Given the description of an element on the screen output the (x, y) to click on. 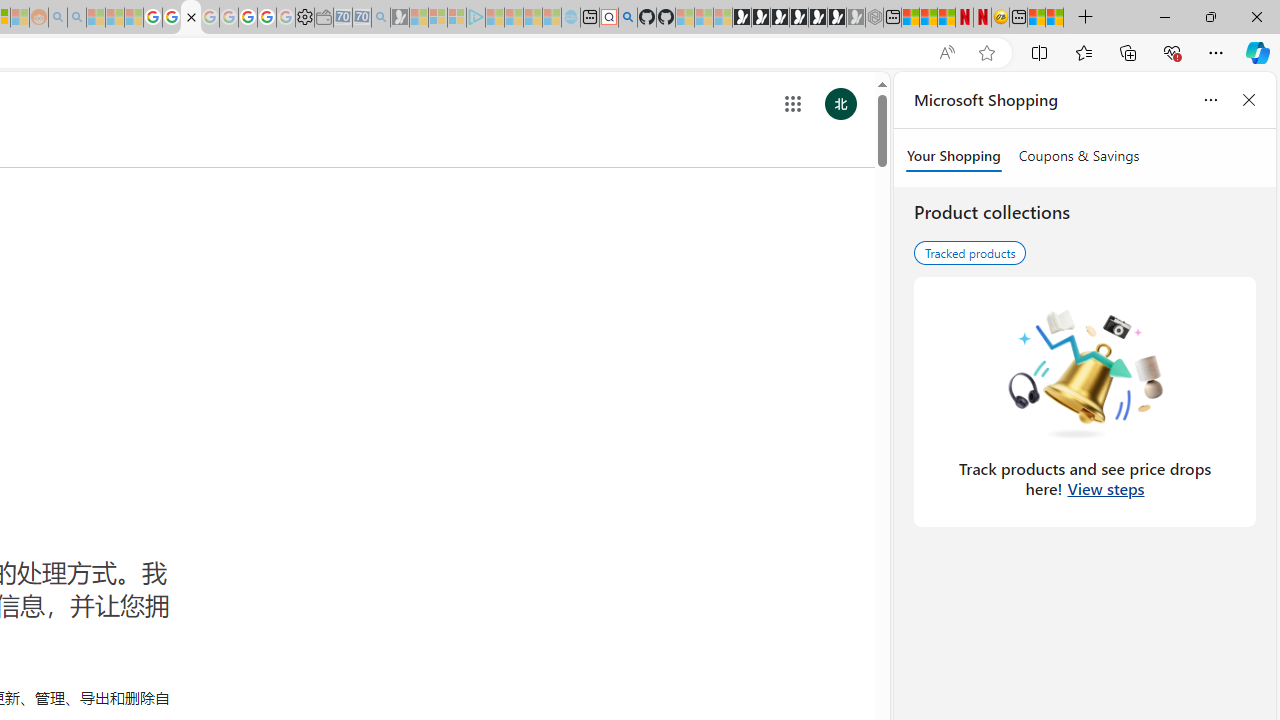
Wildlife - MSN (1035, 17)
